Given the description of an element on the screen output the (x, y) to click on. 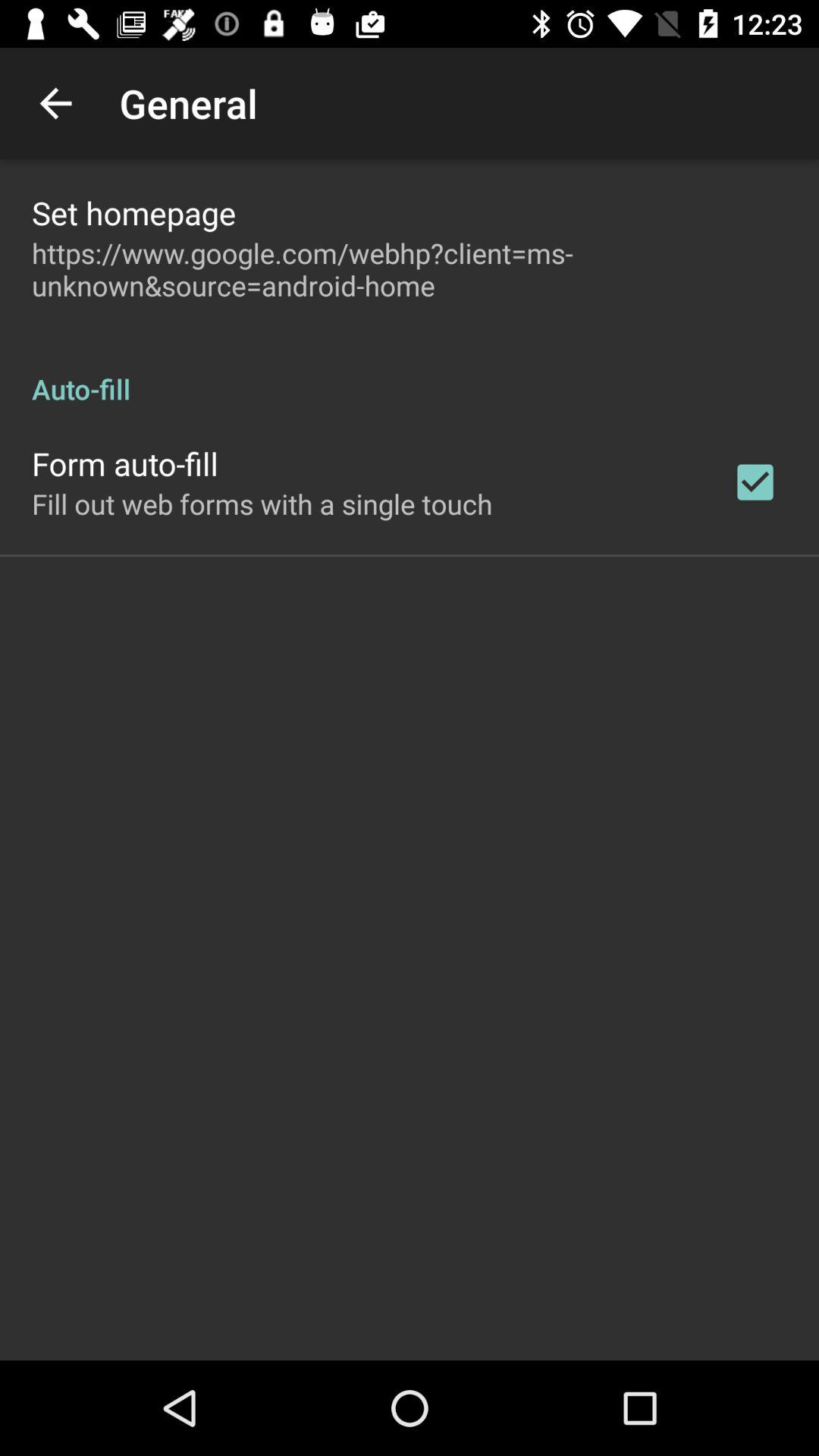
click set homepage item (133, 212)
